Given the description of an element on the screen output the (x, y) to click on. 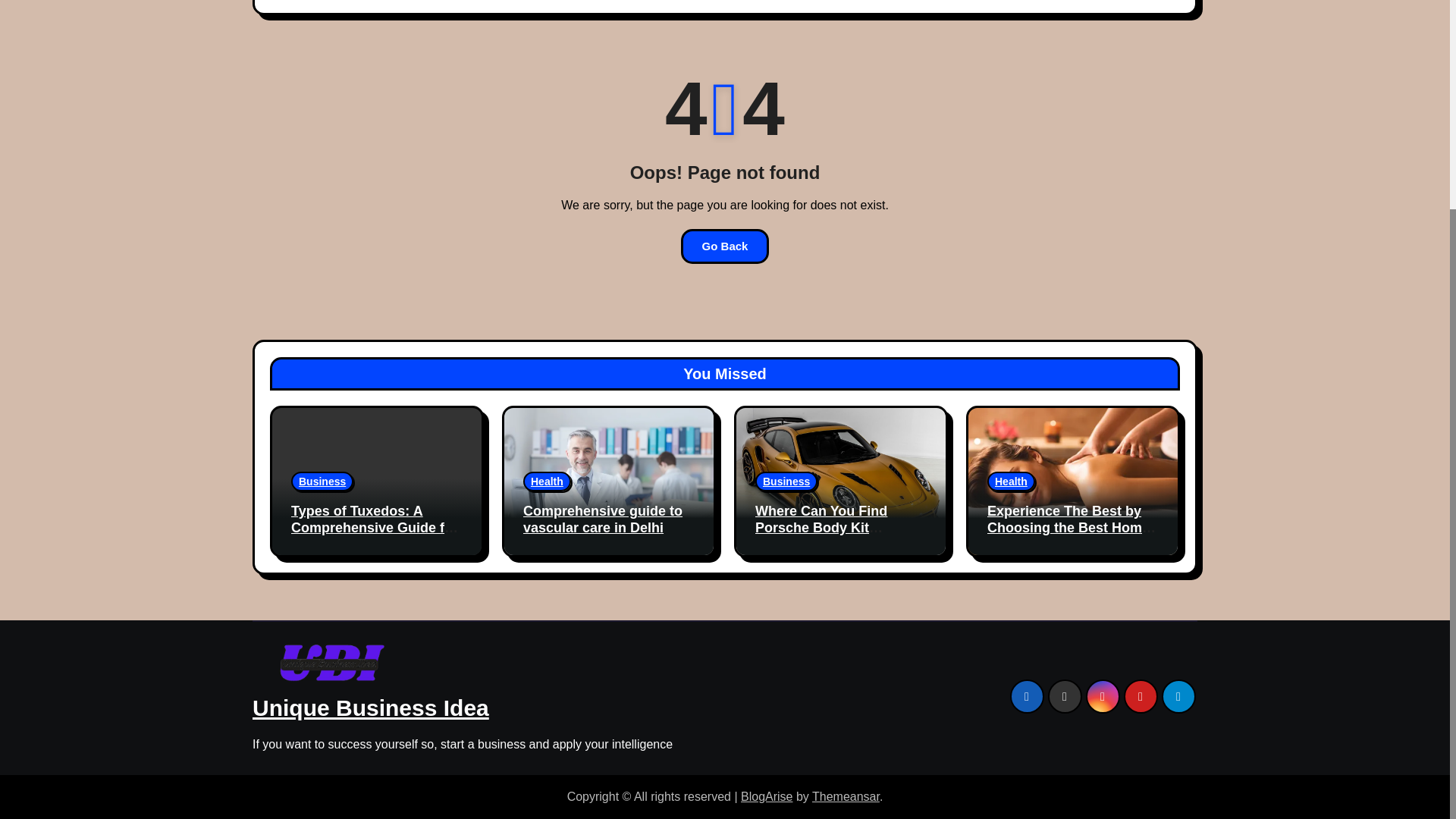
Types of Tuxedos: A Comprehensive Guide for Every Occasion (374, 527)
Go Back (725, 246)
Comprehensive guide to vascular care in Delhi (602, 519)
Health (546, 481)
Home (286, 1)
Business (322, 481)
Permalink to: Comprehensive guide to vascular care in Delhi (602, 519)
